Given the description of an element on the screen output the (x, y) to click on. 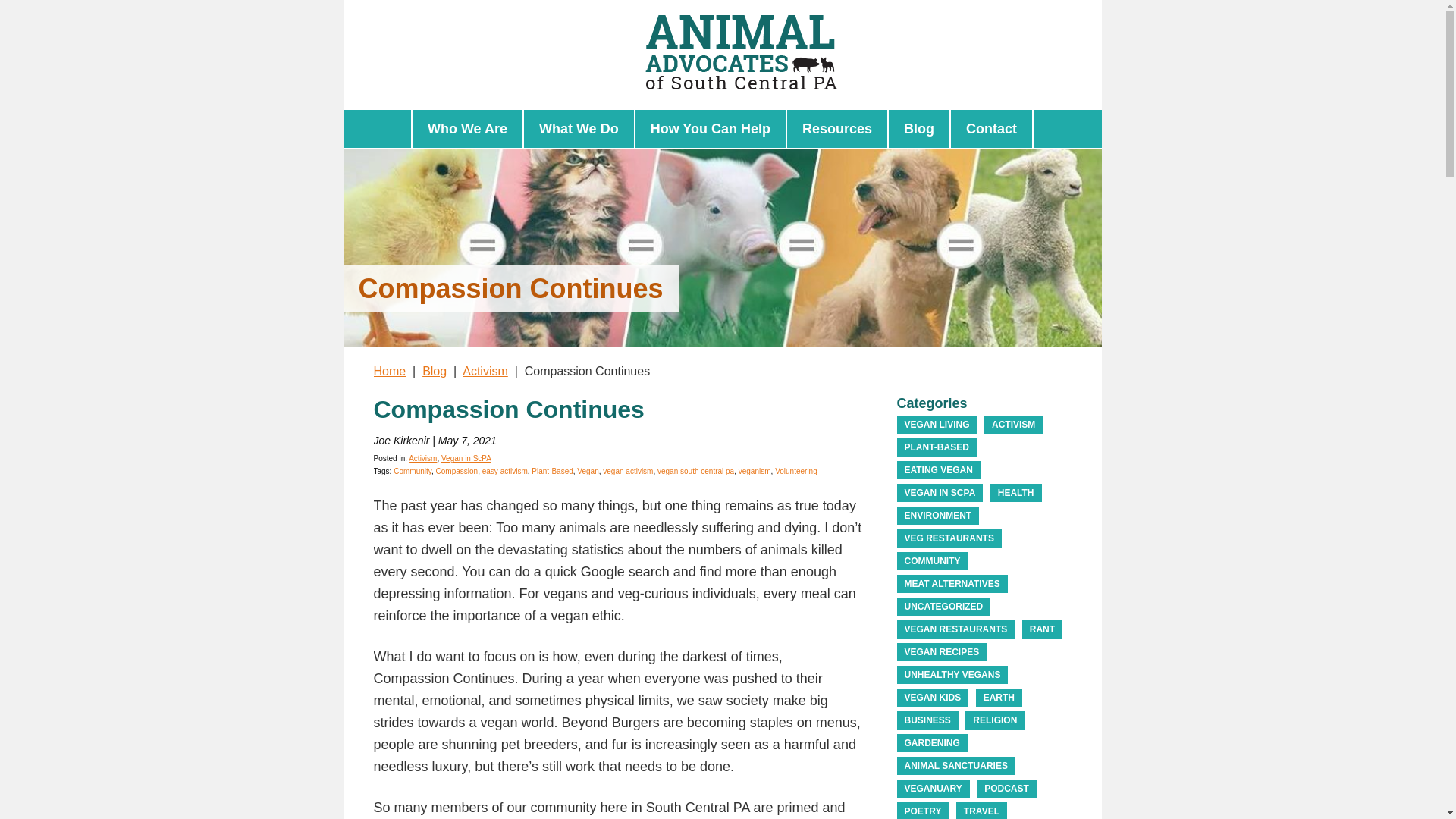
Go to Blog. (434, 370)
Go to Animal Advocates of South Central PA. (389, 370)
How You Can Help (710, 128)
What We Do (578, 128)
Go to the Activism category archives. (485, 370)
These are uncategorized blog posts. (943, 606)
Who We Are (467, 128)
Resources (836, 128)
